Given the description of an element on the screen output the (x, y) to click on. 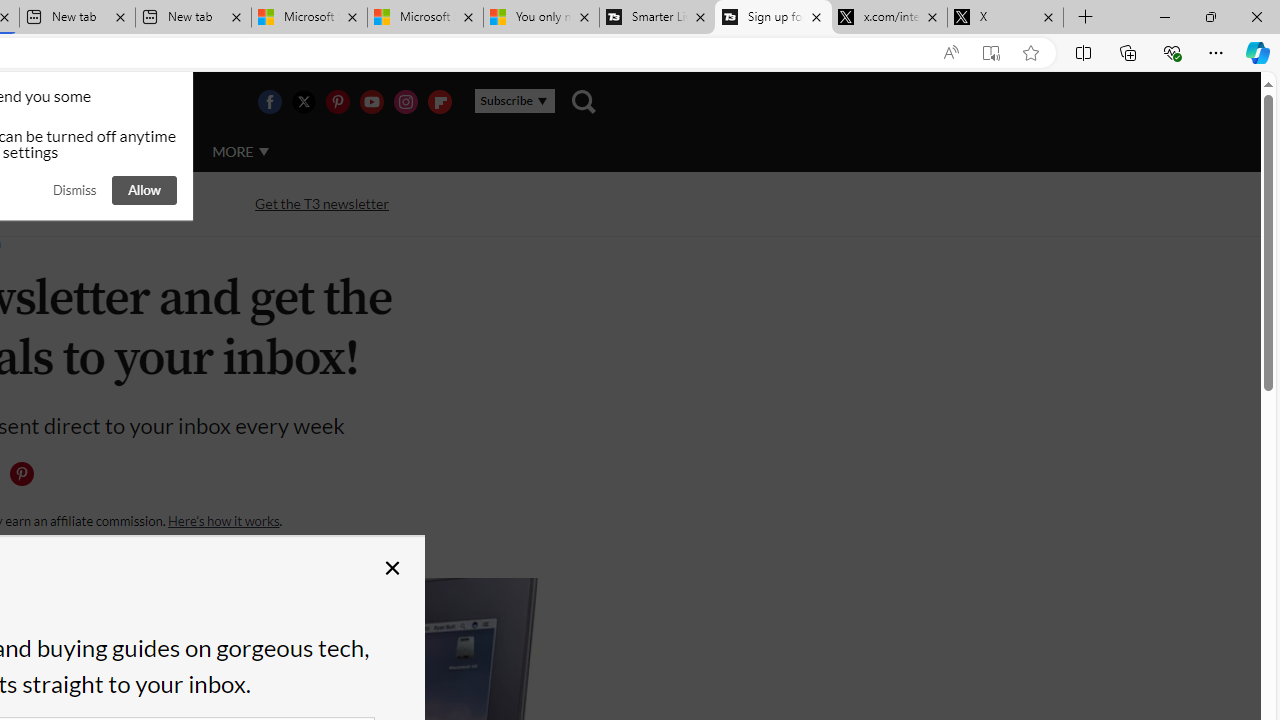
LUXURY (66, 151)
Enter Immersive Reader (F9) (991, 53)
AUTO (153, 151)
AUTO (153, 151)
MORE  (239, 151)
Share this page on Pintrest (21, 474)
Visit us on Flipboard (439, 101)
